Given the description of an element on the screen output the (x, y) to click on. 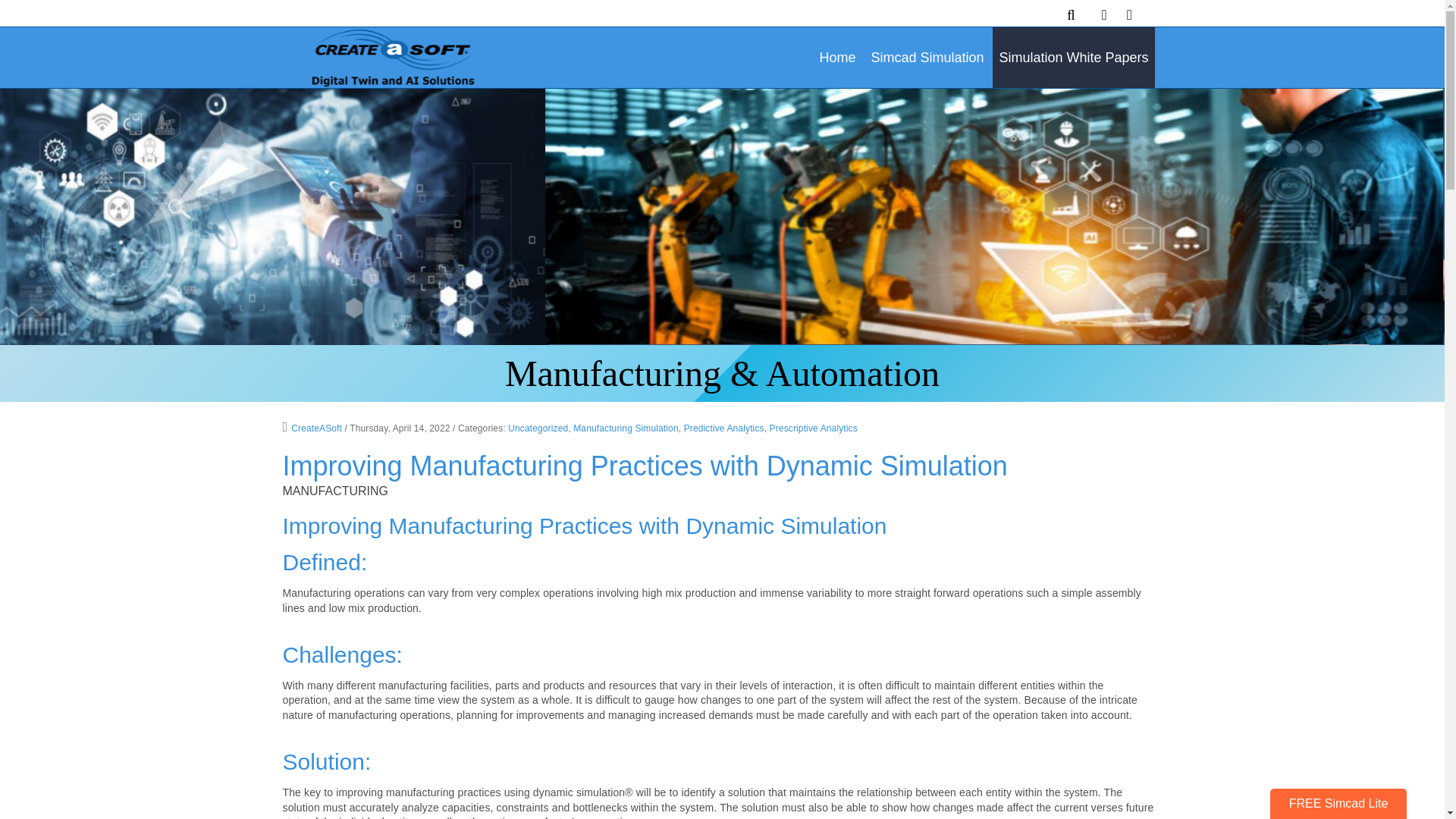
Simcad Simulation (927, 57)
Simulation White Papers (1073, 57)
Manufacturing Simulation (625, 428)
CreateASoft (312, 428)
Prescriptive Analytics (813, 428)
Uncategorized (537, 428)
Simulation Software (389, 56)
Predictive Analytics (724, 428)
